Given the description of an element on the screen output the (x, y) to click on. 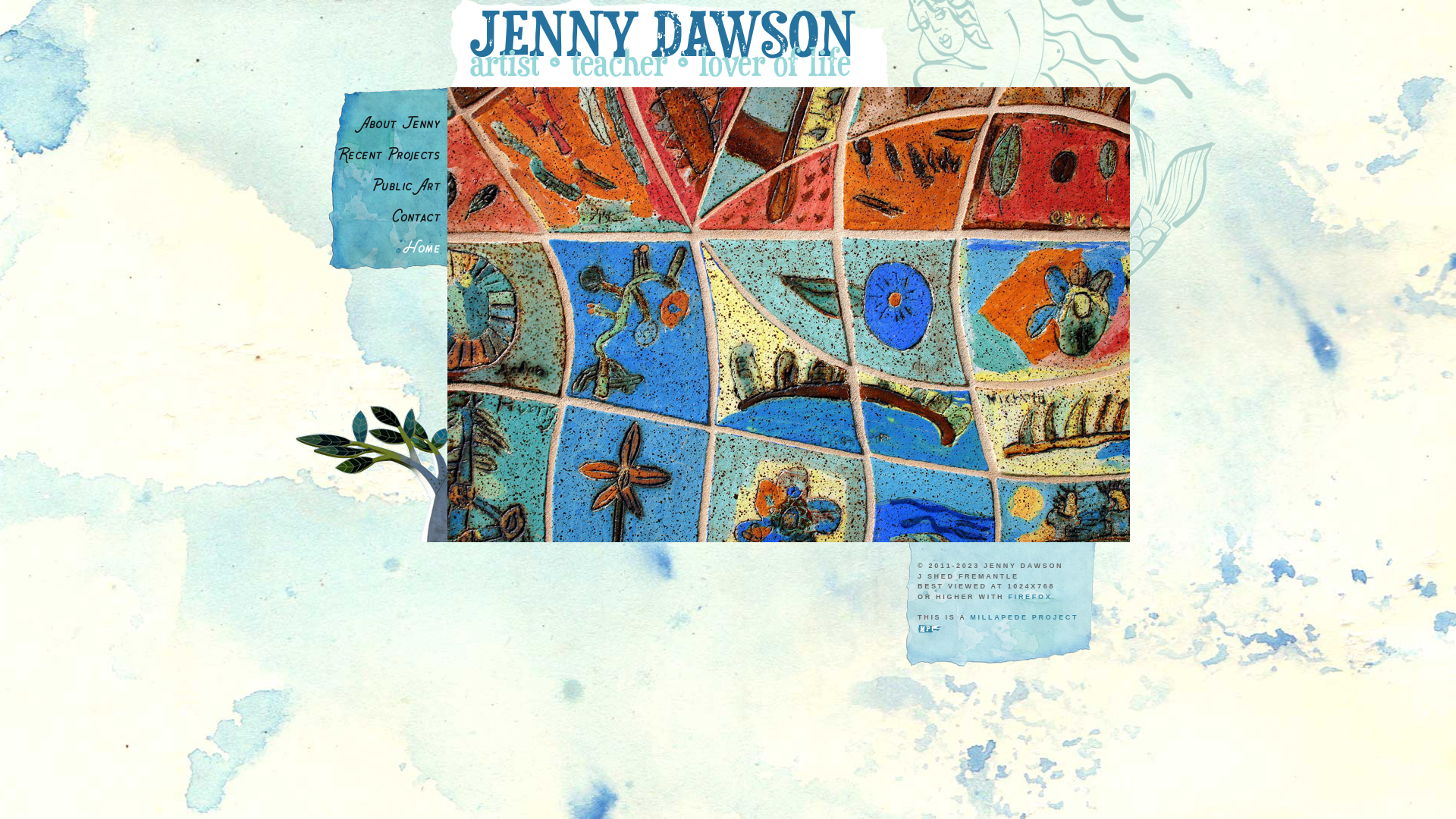
Recent Projects Element type: text (378, 152)
FIREFOX Element type: text (1030, 596)
Public Art Element type: text (378, 183)
Contact Element type: text (378, 214)
MILLAPEDE PROJECT Element type: text (1023, 616)
About Jenny Element type: text (378, 121)
Home Element type: text (378, 245)
